Given the description of an element on the screen output the (x, y) to click on. 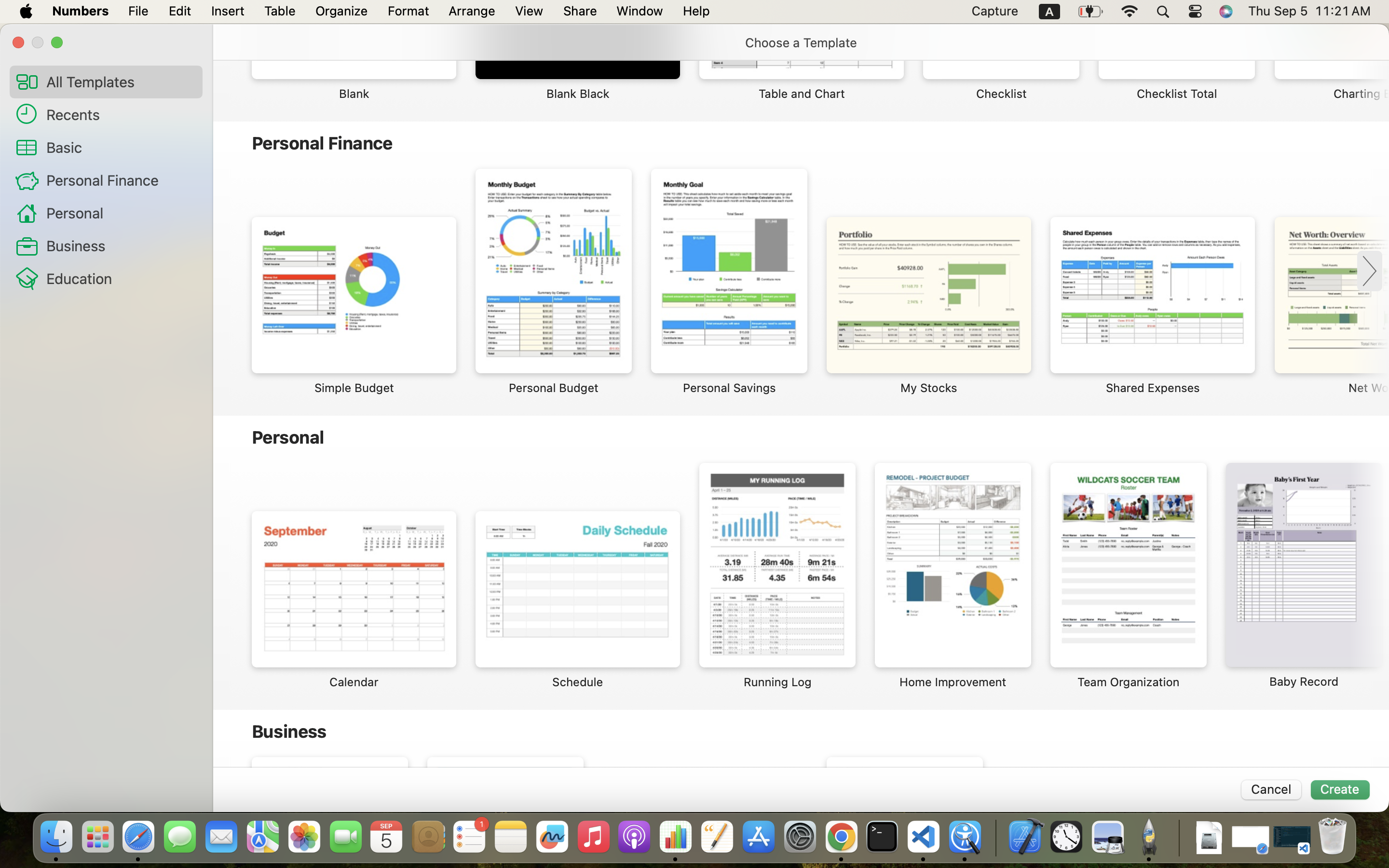
Basic Element type: AXStaticText (120, 146)
Personal Element type: AXStaticText (120, 212)
Education Element type: AXStaticText (120, 278)
Recents Element type: AXStaticText (120, 114)
